Given the description of an element on the screen output the (x, y) to click on. 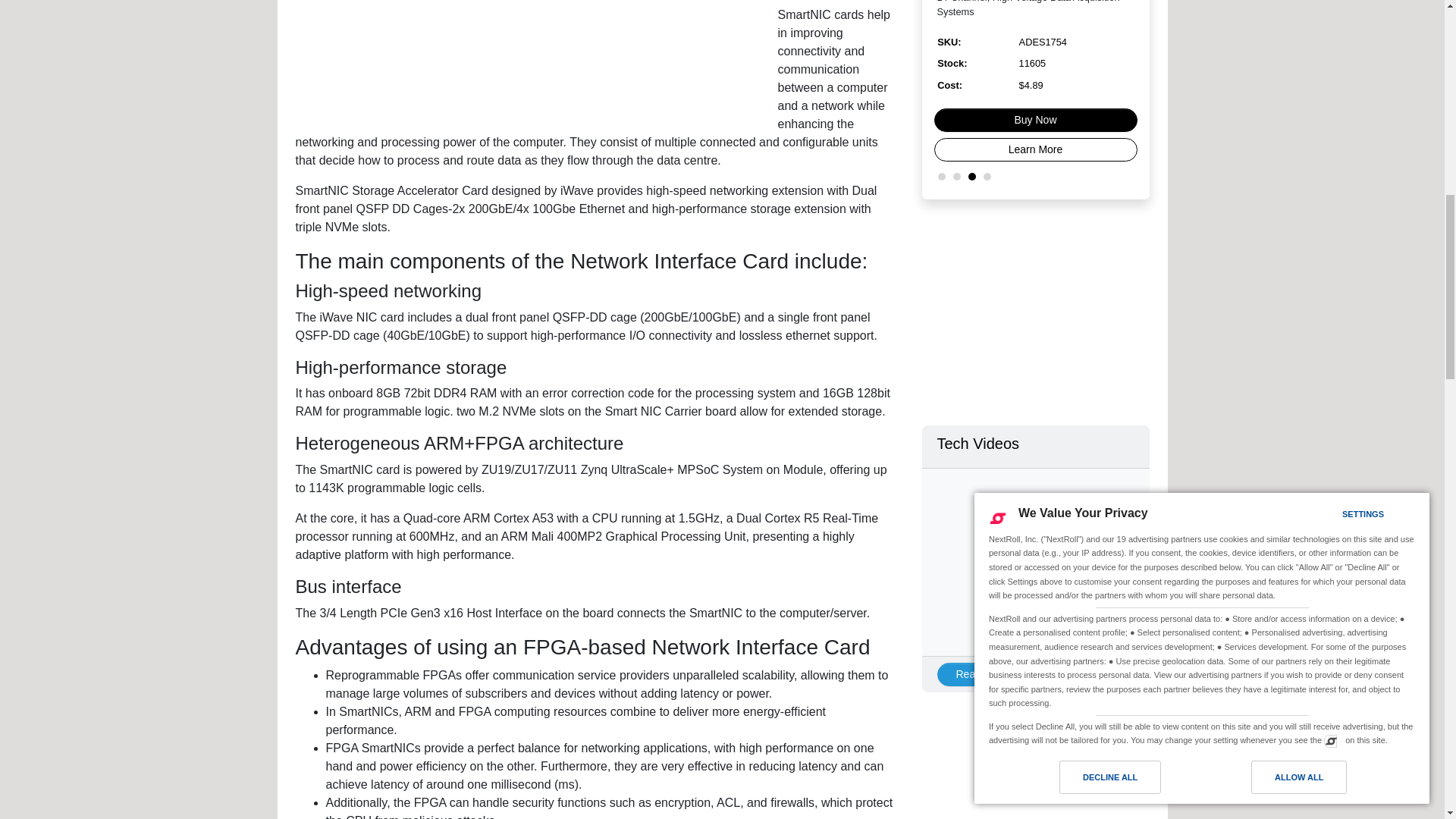
3rd party ad content (1035, 312)
3rd party ad content (1035, 773)
3rd party ad content (530, 62)
